Given the description of an element on the screen output the (x, y) to click on. 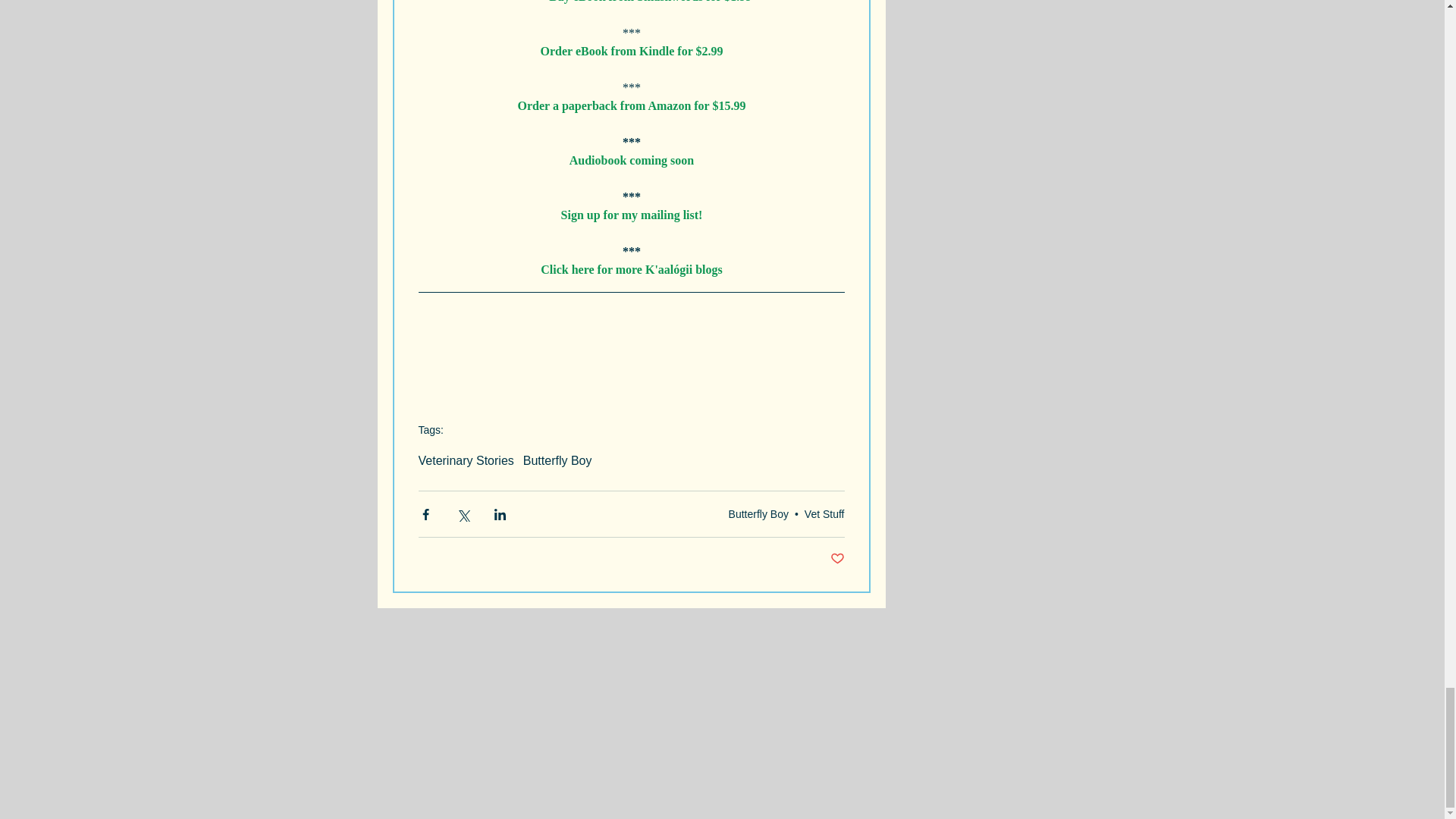
Sign up for my mailing list! (630, 214)
Post not marked as liked (836, 559)
Butterfly Boy (557, 460)
Butterfly Boy (759, 513)
Vet Stuff (824, 513)
Veterinary Stories (466, 460)
